Given the description of an element on the screen output the (x, y) to click on. 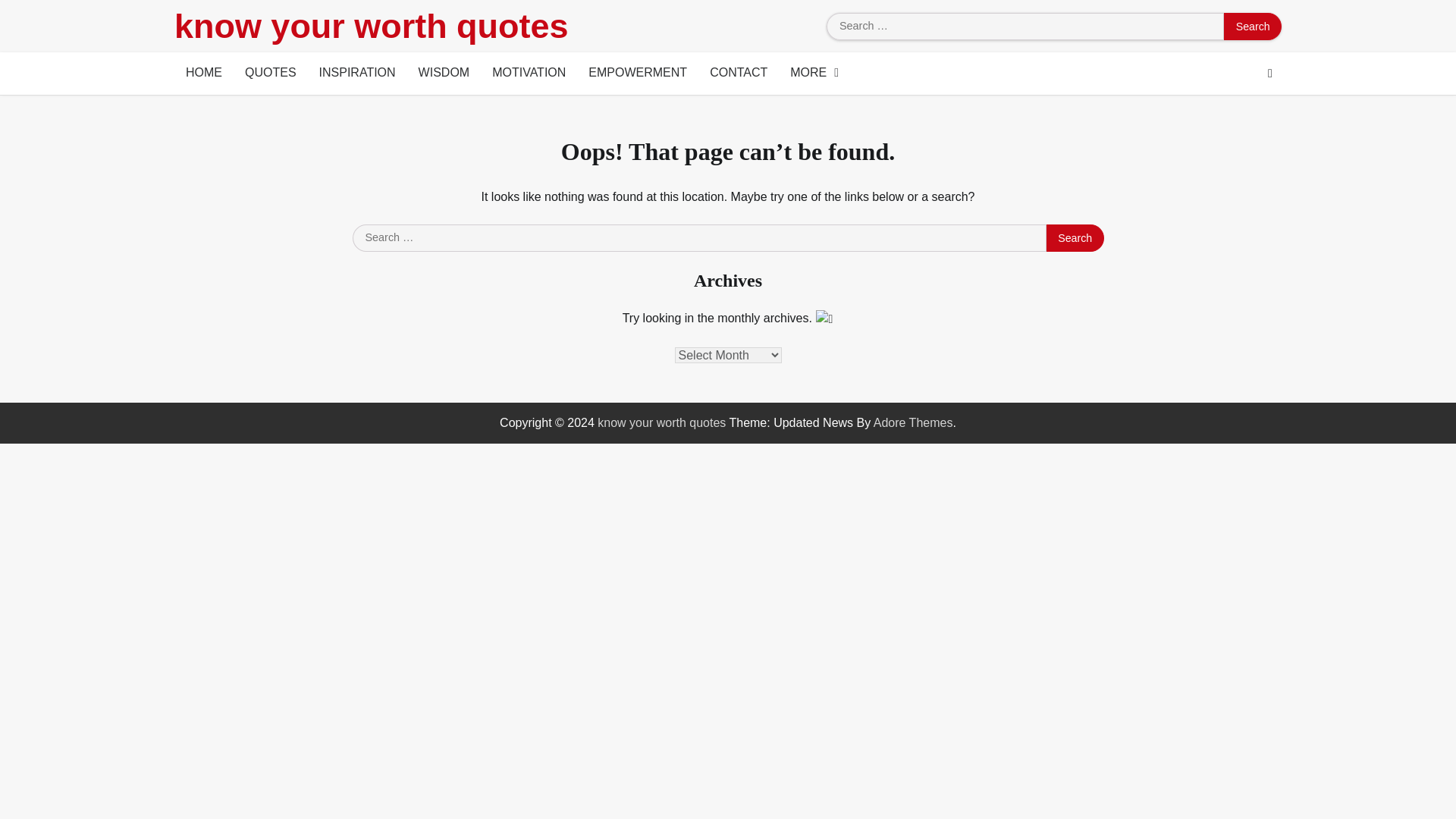
Search (1252, 26)
CONTACT (738, 73)
INSPIRATION (357, 73)
know your worth quotes (660, 422)
Search (1252, 26)
know your worth quotes (370, 25)
QUOTES (269, 73)
MOTIVATION (528, 73)
View Random Post (1270, 73)
Search (1252, 26)
